Given the description of an element on the screen output the (x, y) to click on. 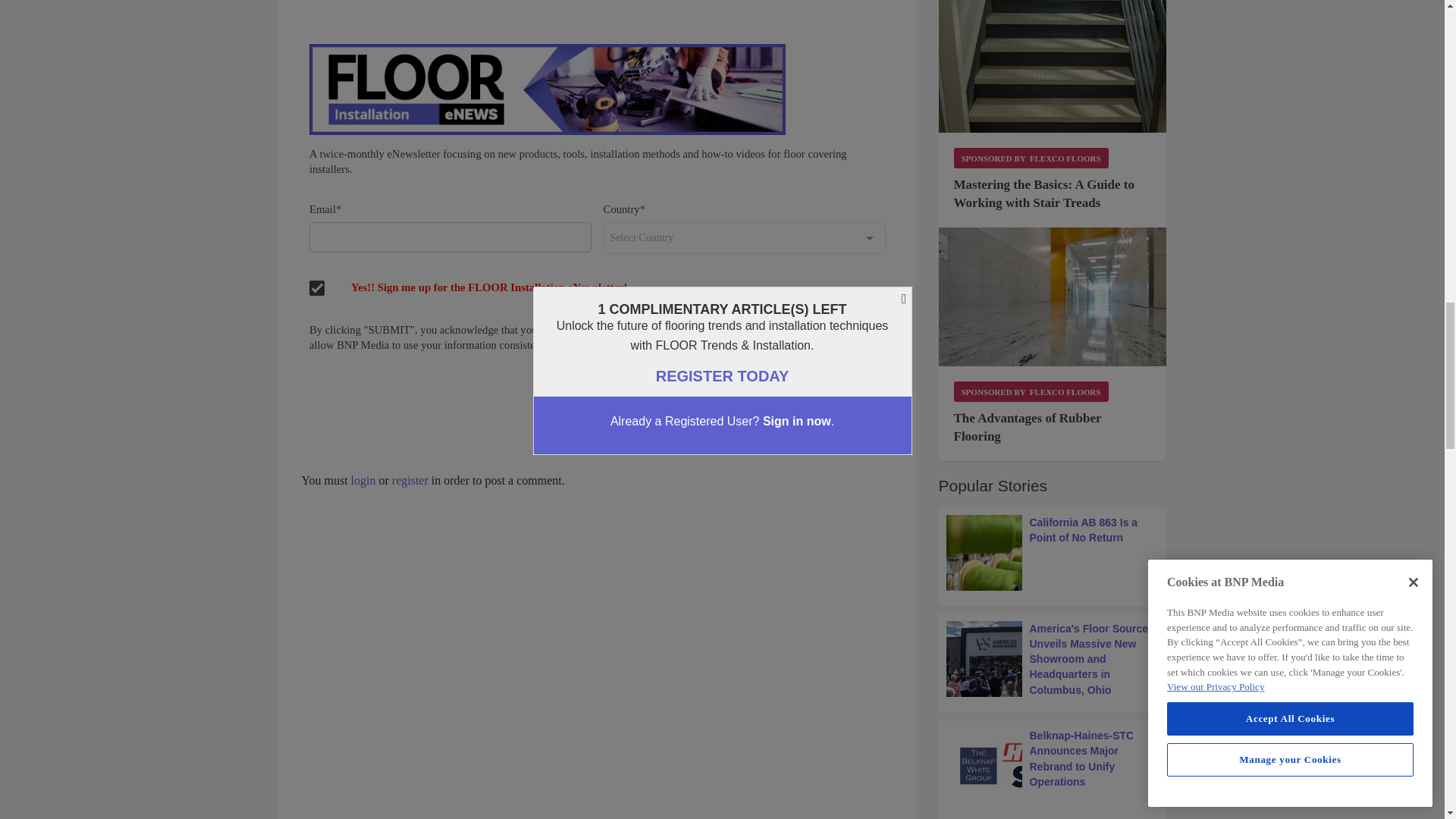
rubber flooring (1052, 296)
Sponsored by Flexco Floors (1030, 158)
California AB 863 Is a Point of No Return  (1052, 551)
Sponsored by Flexco Floors (1030, 391)
stair treads (1052, 66)
